Given the description of an element on the screen output the (x, y) to click on. 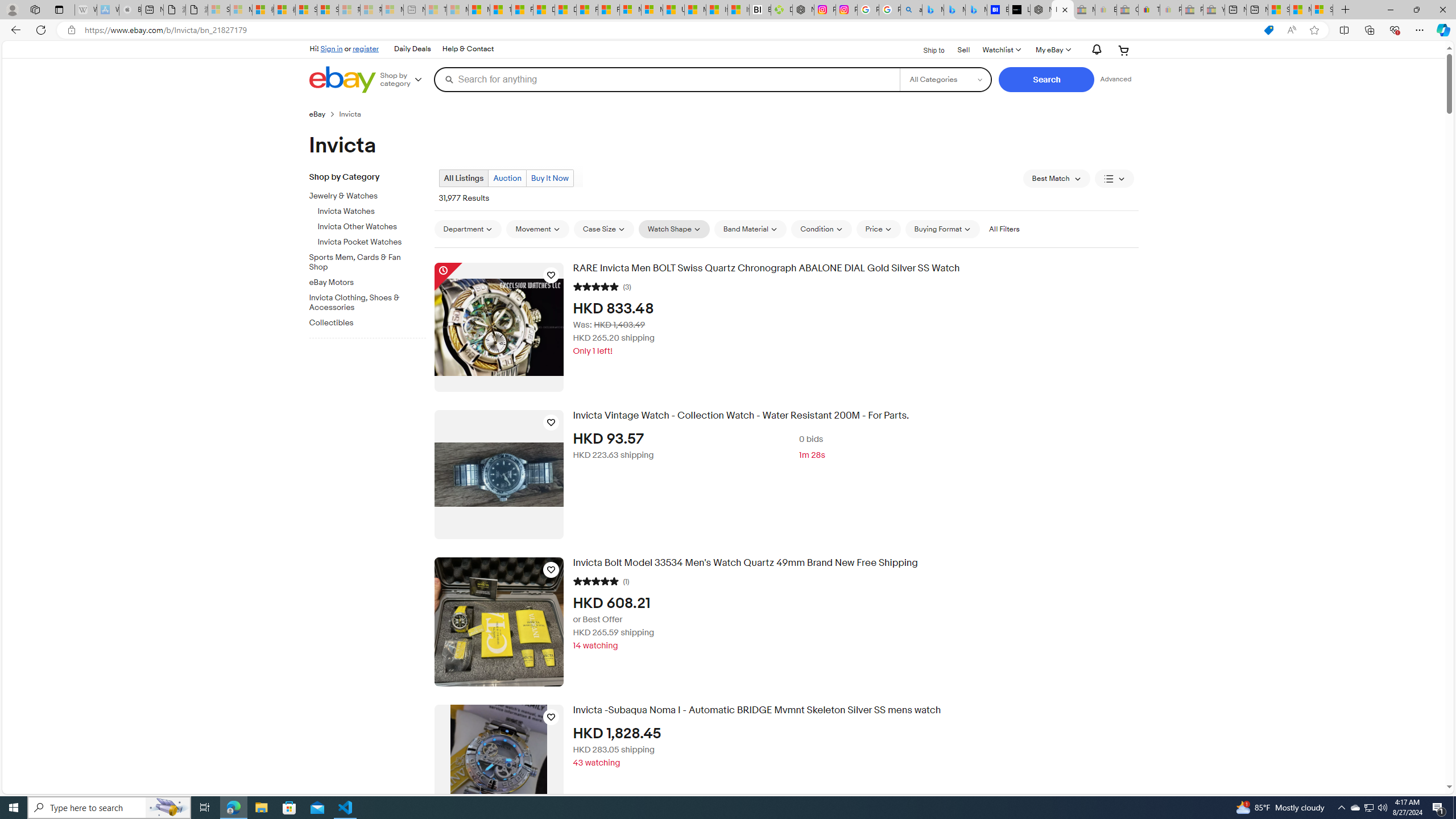
Food and Drink - MSN (522, 9)
Invicta Watches (371, 209)
Wikipedia - Sleeping (85, 9)
Watch Shape (673, 229)
Select a category for search (945, 78)
New tab - Sleeping (413, 9)
Press Room - eBay Inc. - Sleeping (1192, 9)
Invicta Pocket Watches (371, 242)
